Given the description of an element on the screen output the (x, y) to click on. 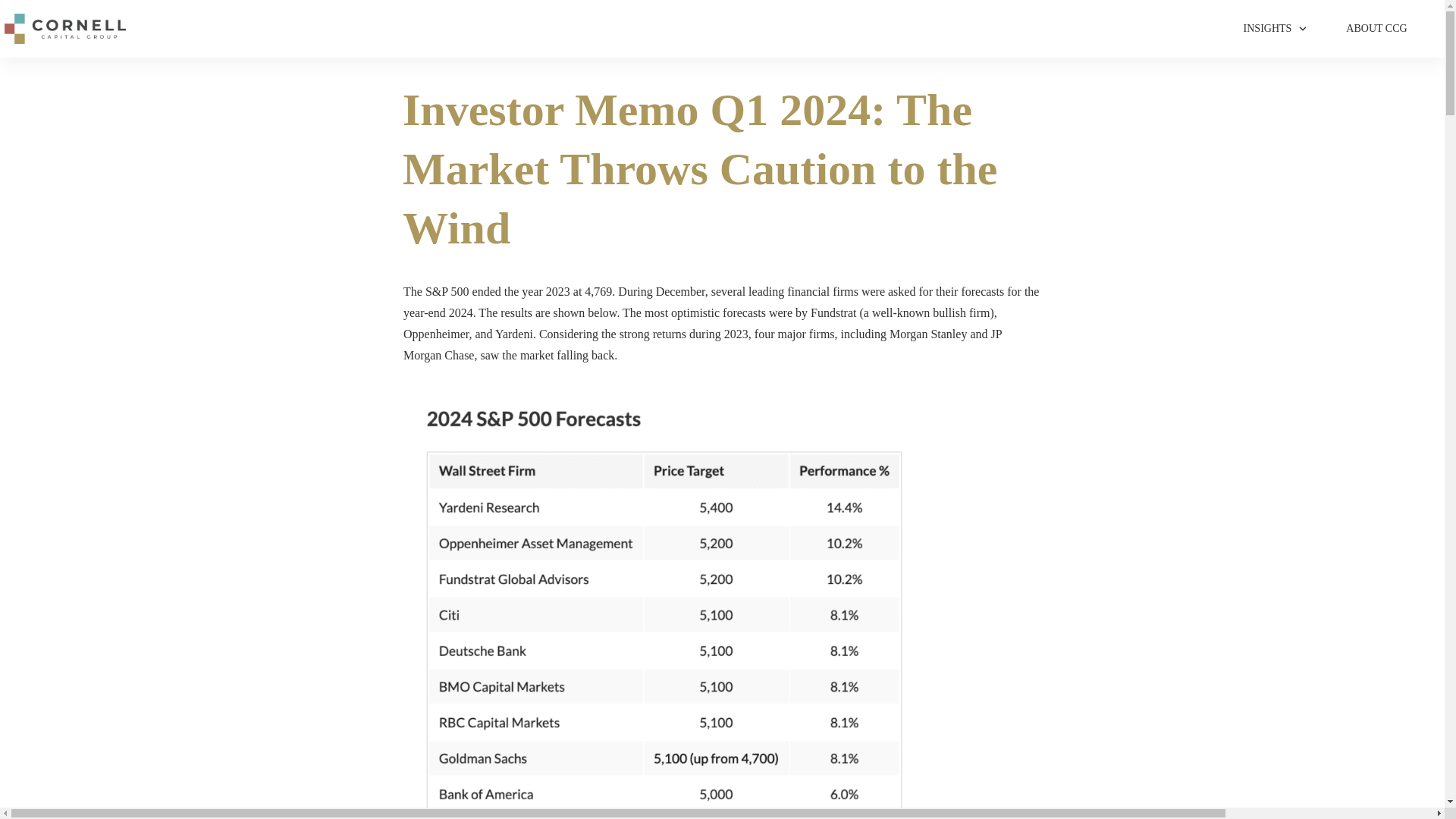
Investor Memo Q1 2024: The Market Throws Caution to the Wind (700, 169)
INSIGHTS (1275, 28)
Investor Memo Q1 2024: The Market Throws Caution to the Wind (700, 169)
ABOUT CCG (1375, 28)
